Given the description of an element on the screen output the (x, y) to click on. 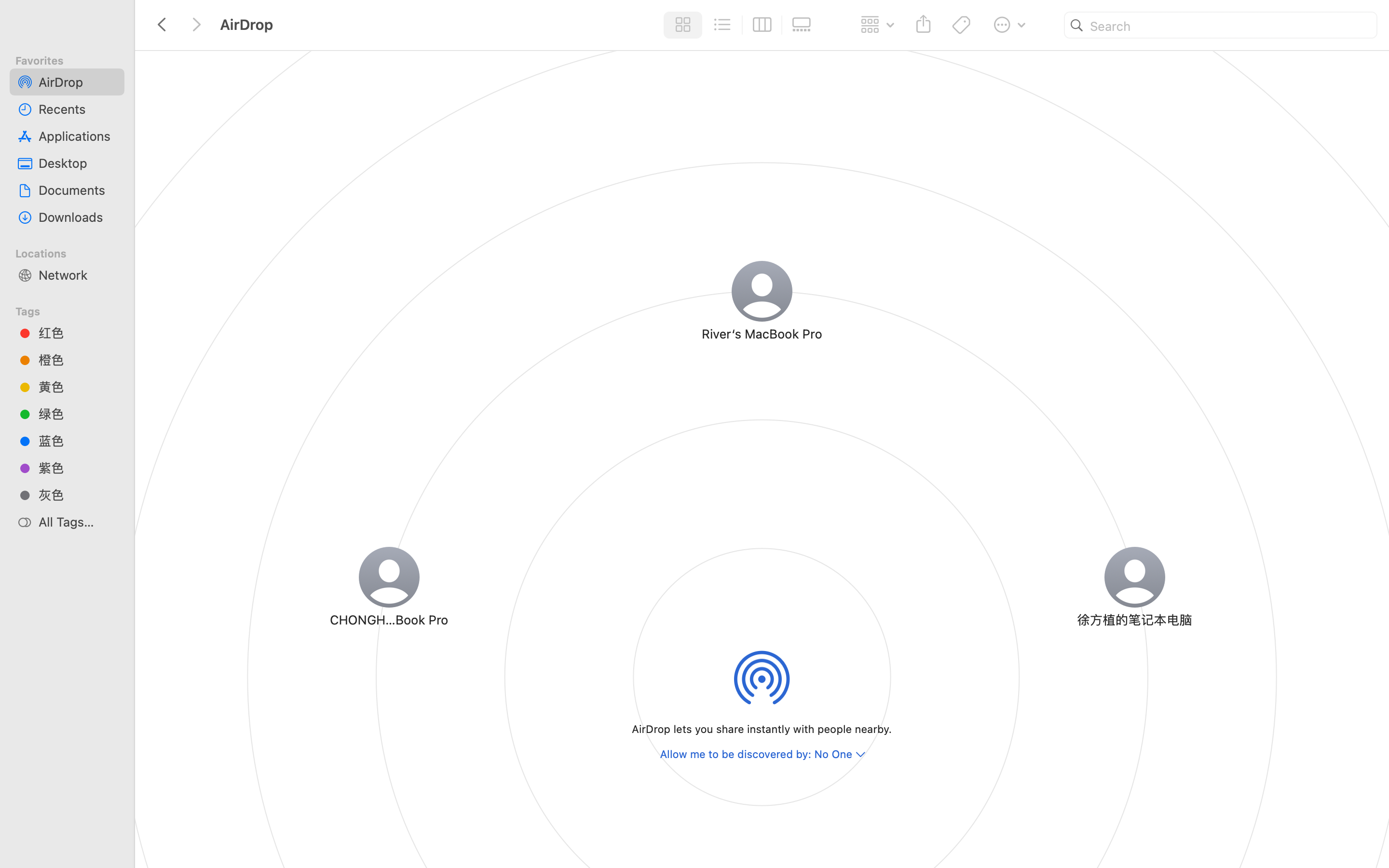
1 Element type: AXRadioButton (680, 24)
Documents Element type: AXStaticText (77, 189)
蓝色 Element type: AXStaticText (77, 440)
紫色 Element type: AXStaticText (77, 467)
0 Element type: AXRadioButton (804, 24)
